Given the description of an element on the screen output the (x, y) to click on. 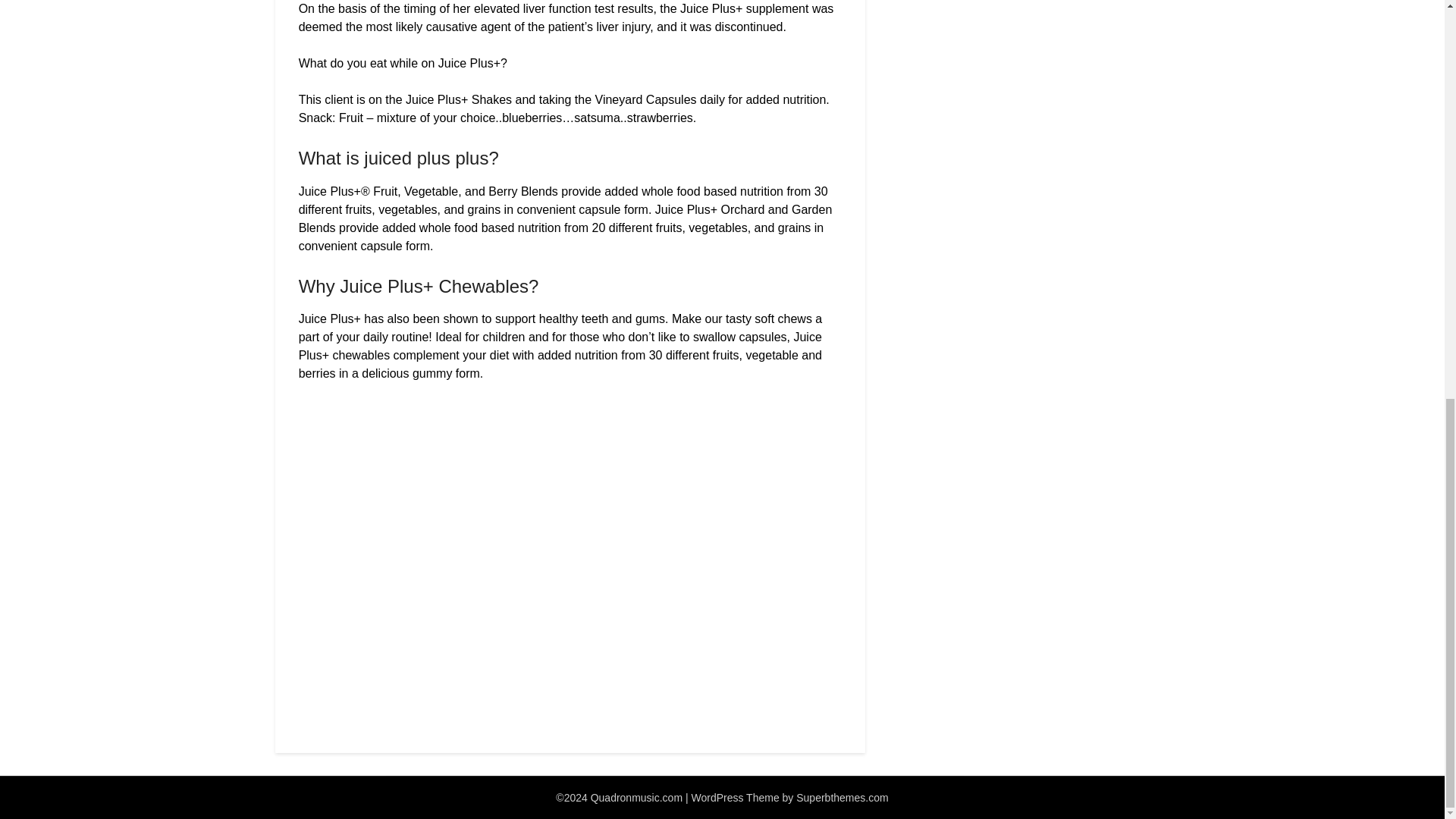
My Grocery List and Goals with Juiceplus (541, 537)
Superbthemes.com (842, 797)
